Given the description of an element on the screen output the (x, y) to click on. 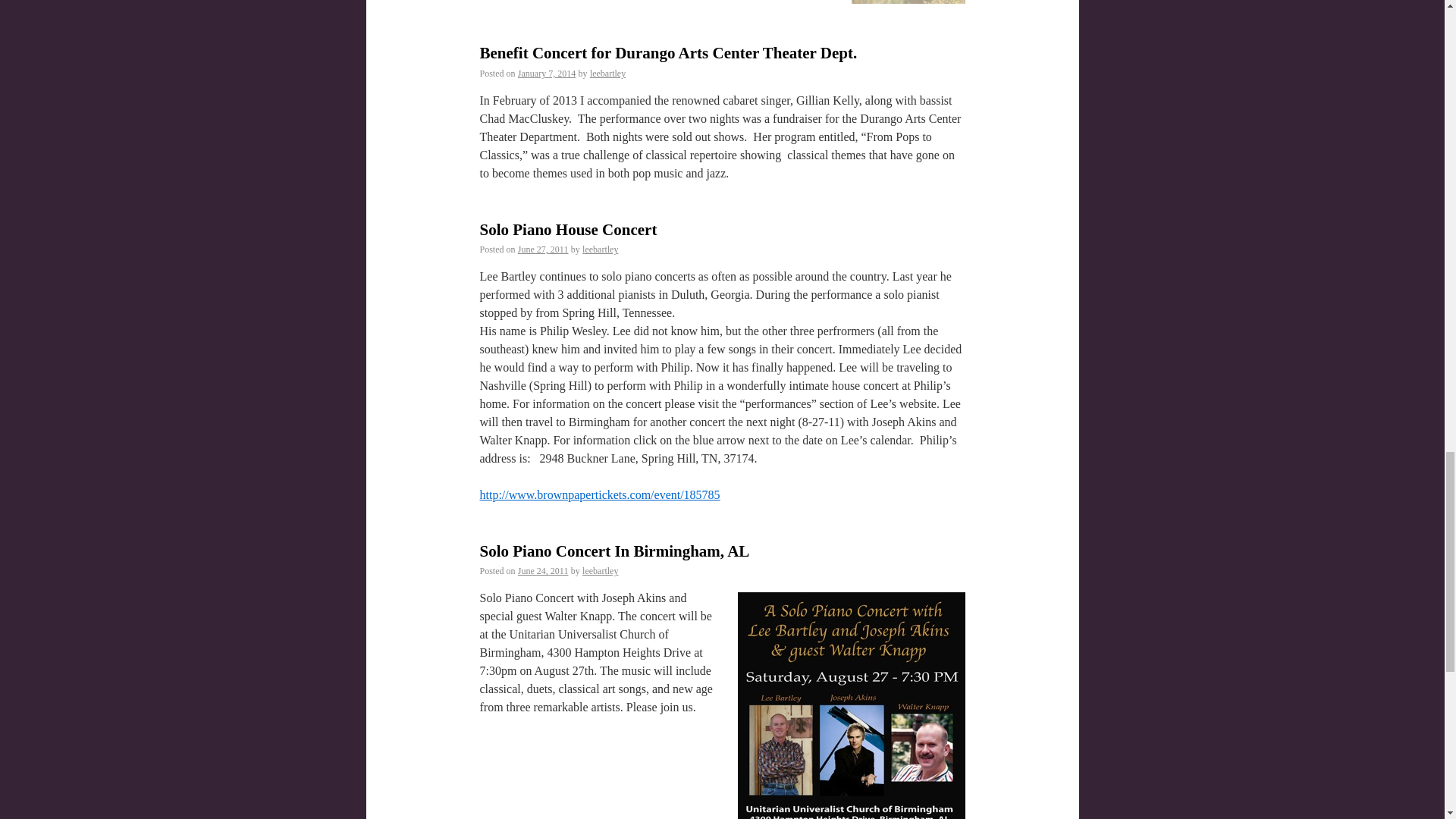
June 27, 2011 (543, 249)
leebartley (599, 570)
June 24, 2011 (543, 570)
Solo Piano Concert In Birmingham, AL (614, 551)
January 7, 2014 (546, 72)
leebartley (599, 249)
leebartley (607, 72)
Benefit Concert for Durango Arts Center Theater Dept. (668, 53)
Solo Piano House Concert (567, 229)
